Given the description of an element on the screen output the (x, y) to click on. 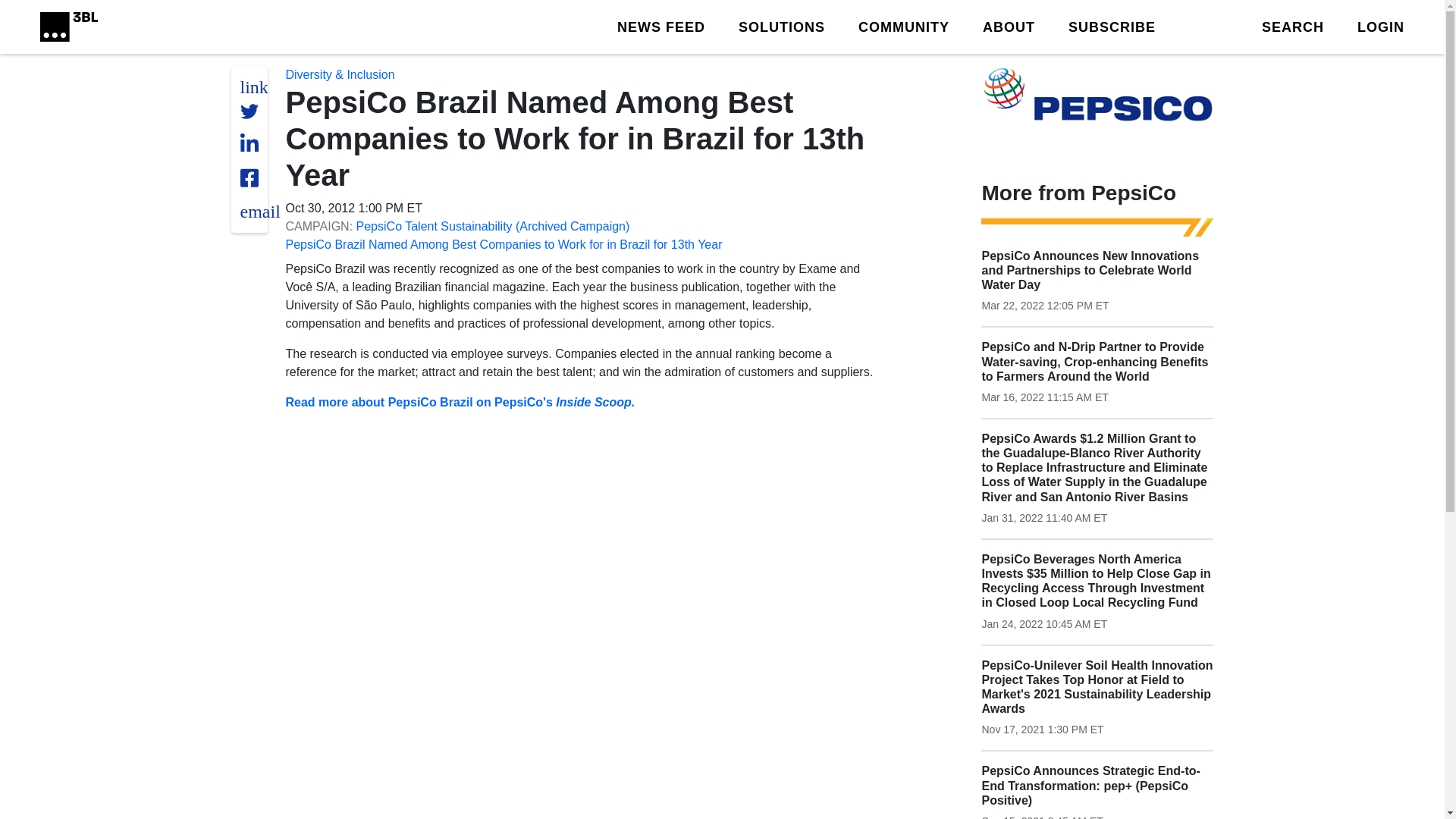
ABOUT (1008, 26)
link to 3 B L Media's Twitter (253, 87)
SUBSCRIBE (1112, 26)
SOLUTIONS (781, 26)
Share via email (259, 211)
NEWS FEED (660, 26)
COMMUNITY (904, 26)
